Given the description of an element on the screen output the (x, y) to click on. 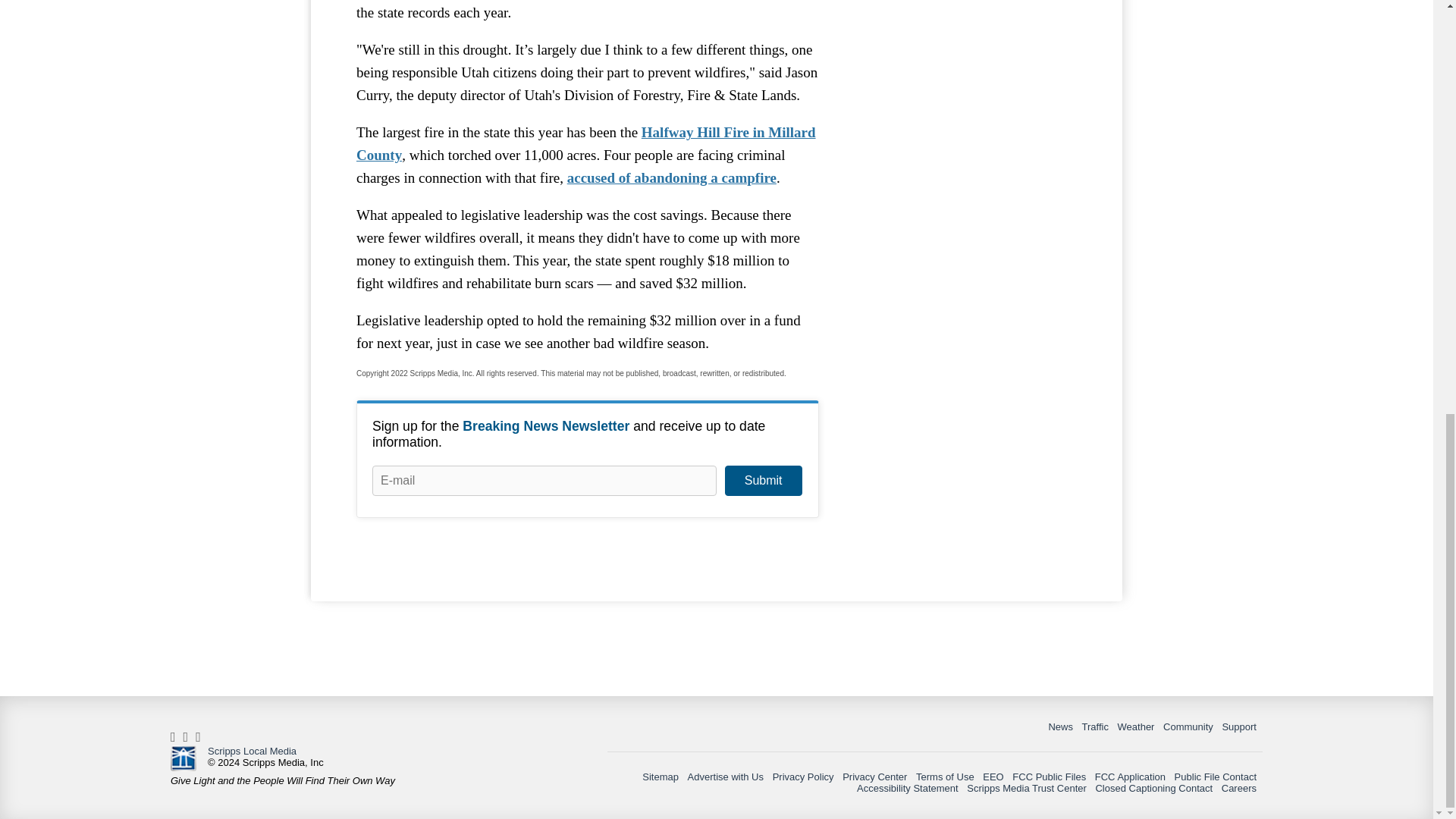
Submit (763, 481)
